Given the description of an element on the screen output the (x, y) to click on. 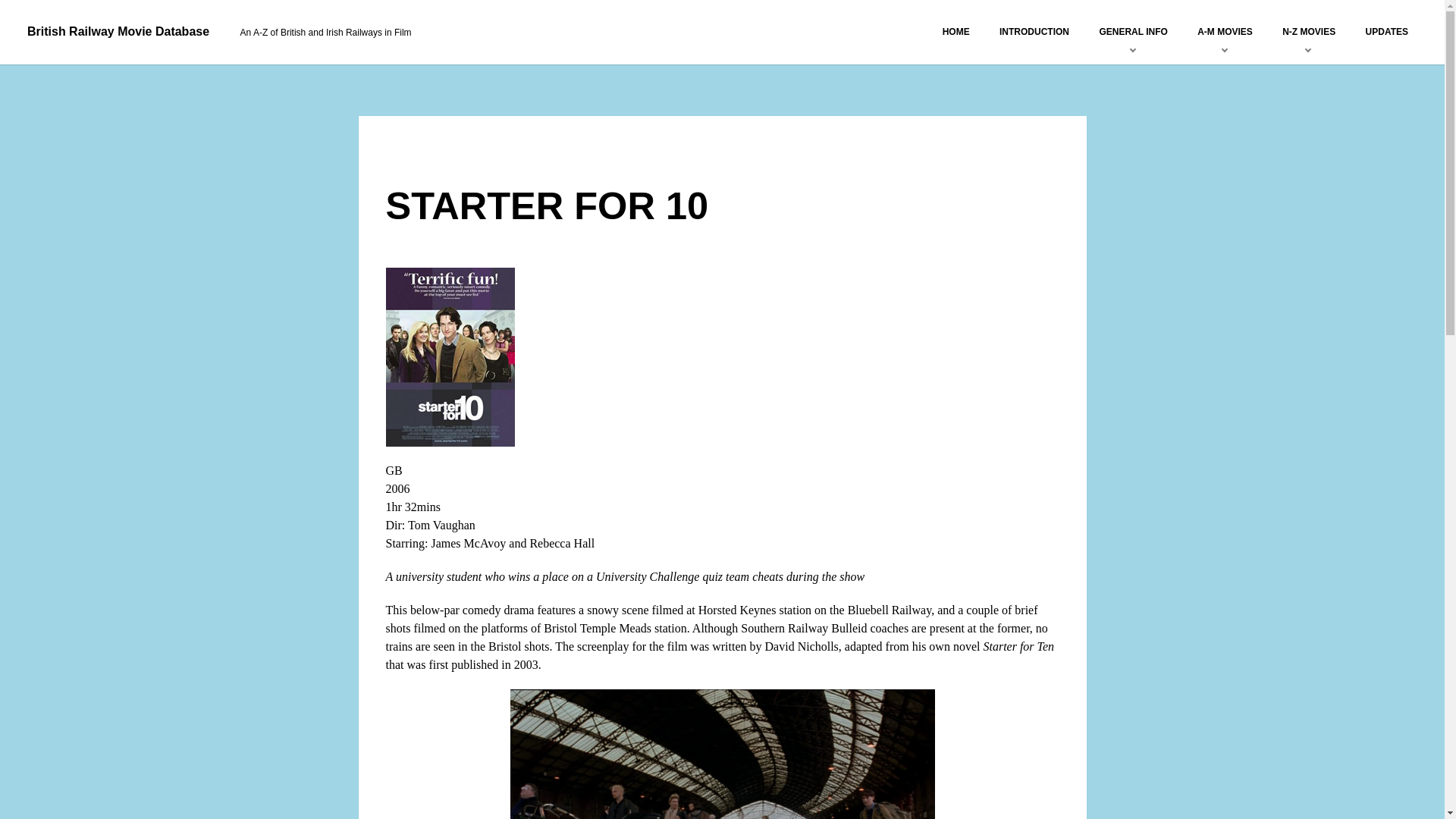
N-Z MOVIES (1307, 31)
HOME (955, 31)
A-M MOVIES (1225, 31)
GENERAL INFO (1132, 31)
UPDATES (1386, 31)
British Railway Movie Database (118, 31)
INTRODUCTION (1034, 31)
